Given the description of an element on the screen output the (x, y) to click on. 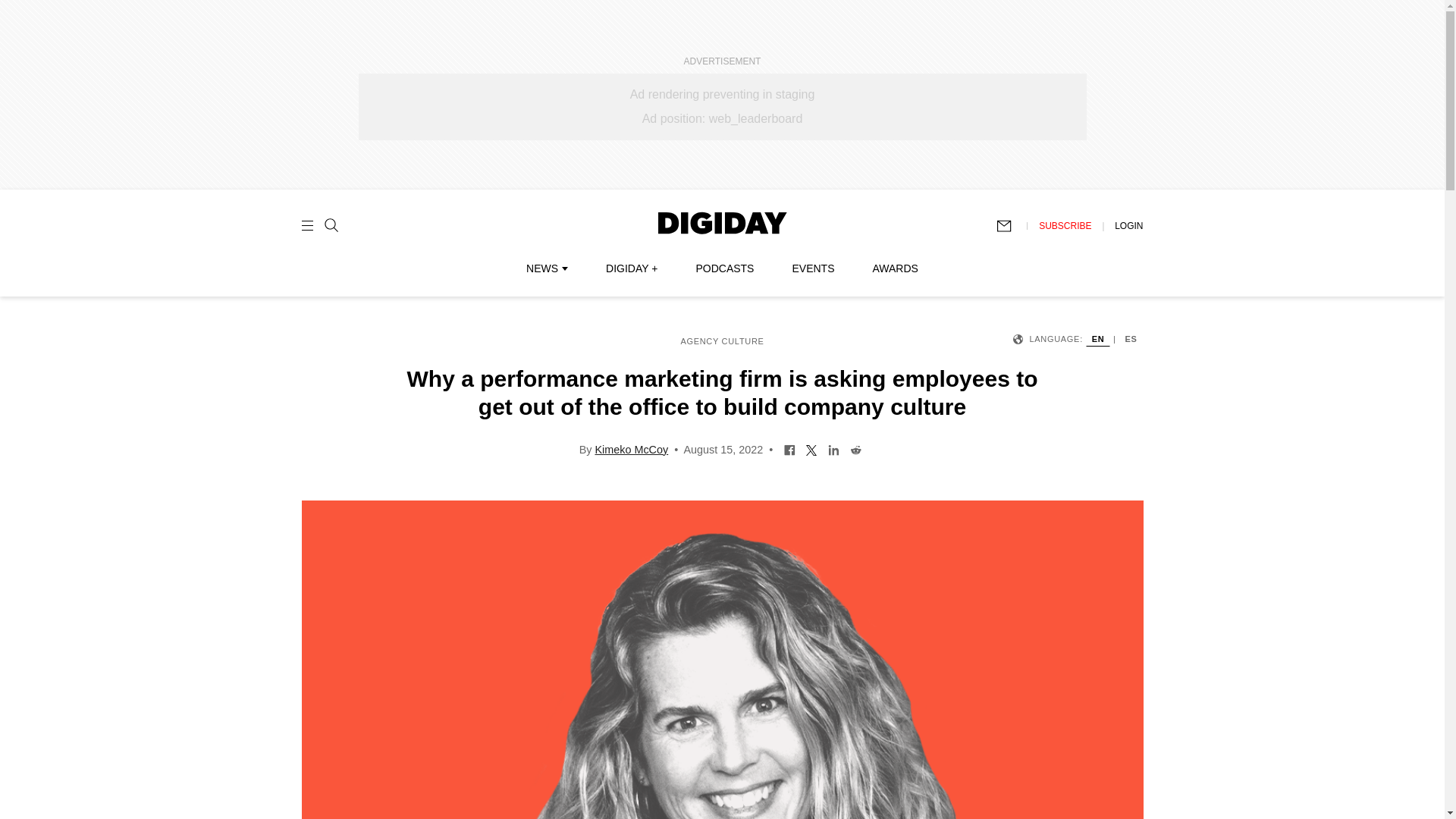
Subscribe (1010, 225)
EVENTS (813, 267)
AWARDS (894, 267)
LOGIN (1128, 225)
SUBSCRIBE (1064, 225)
NEWS (546, 267)
Share on Twitter (811, 449)
PODCASTS (725, 267)
Share on Facebook (789, 449)
Share on Reddit (854, 449)
